Given the description of an element on the screen output the (x, y) to click on. 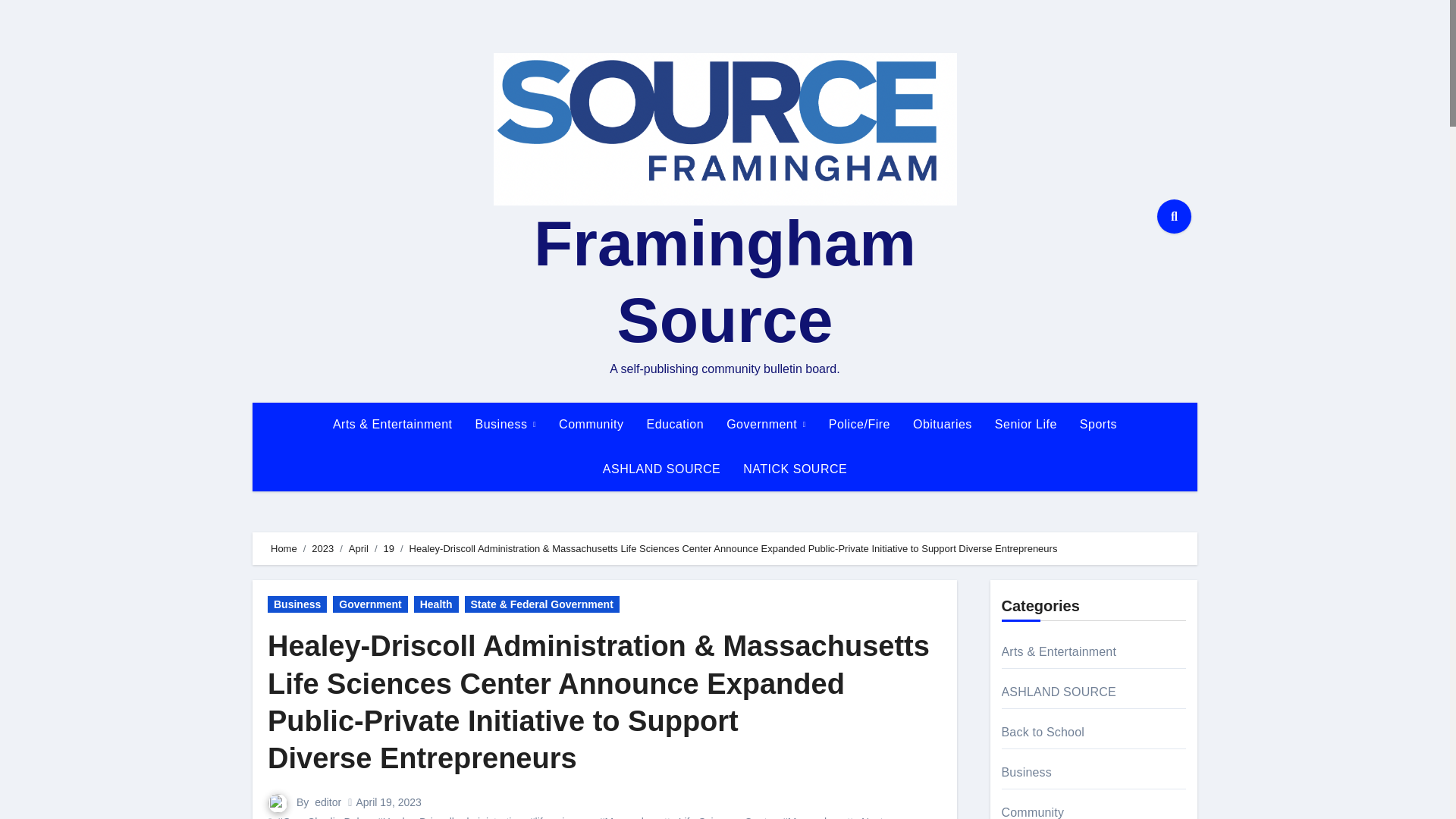
Education (675, 424)
Community (590, 424)
Government (370, 604)
Home (283, 548)
Health (435, 604)
Obituaries (942, 424)
Senior Life (1026, 424)
Obituaries (942, 424)
Framingham Source (724, 281)
2023 (322, 548)
ASHLAND SOURCE (661, 469)
Business (506, 424)
Sports (1098, 424)
Education (675, 424)
Government (765, 424)
